Given the description of an element on the screen output the (x, y) to click on. 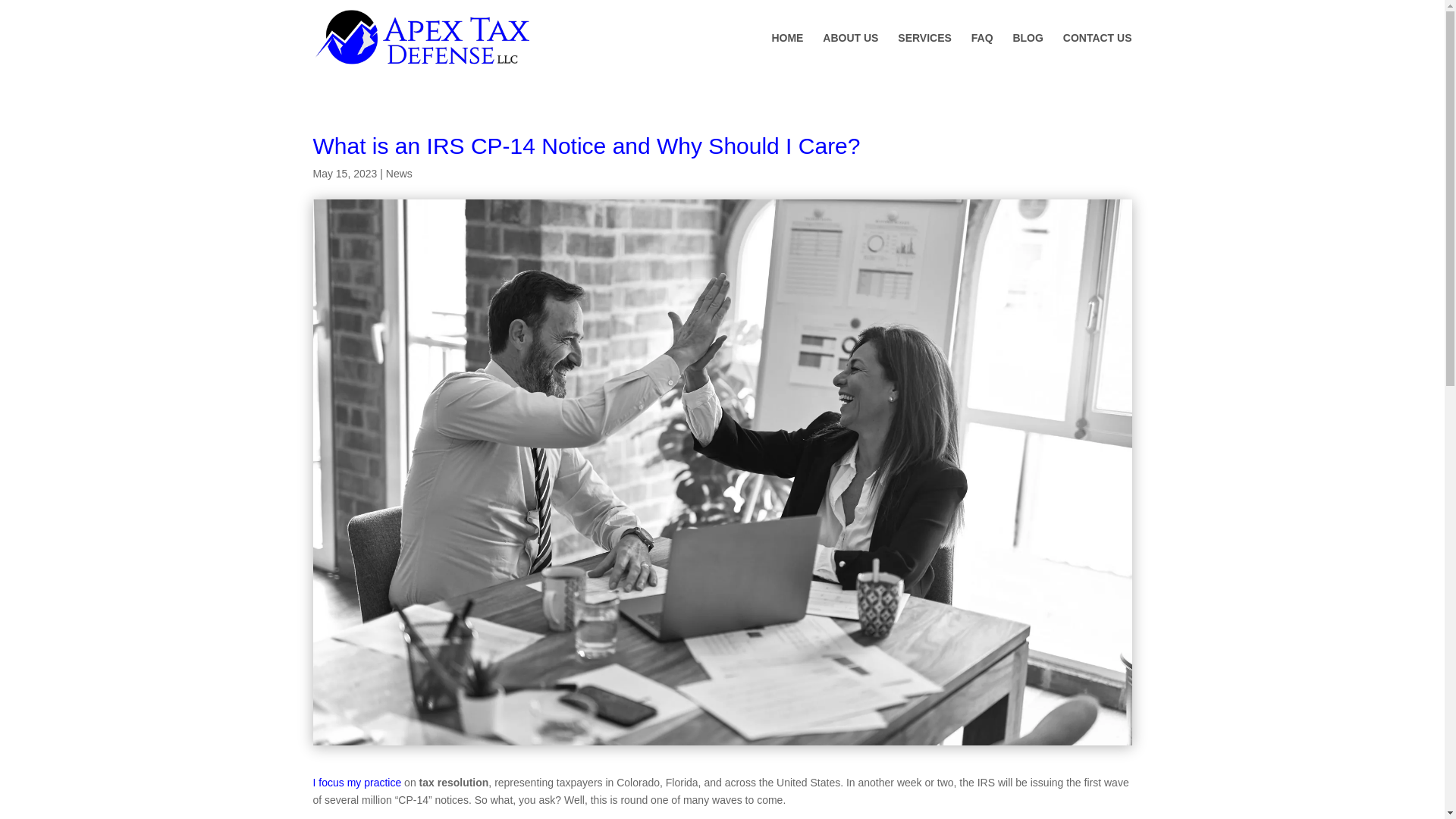
SERVICES (925, 54)
News (398, 173)
ABOUT US (849, 54)
CONTACT US (1097, 54)
I focus my practice (357, 782)
